Given the description of an element on the screen output the (x, y) to click on. 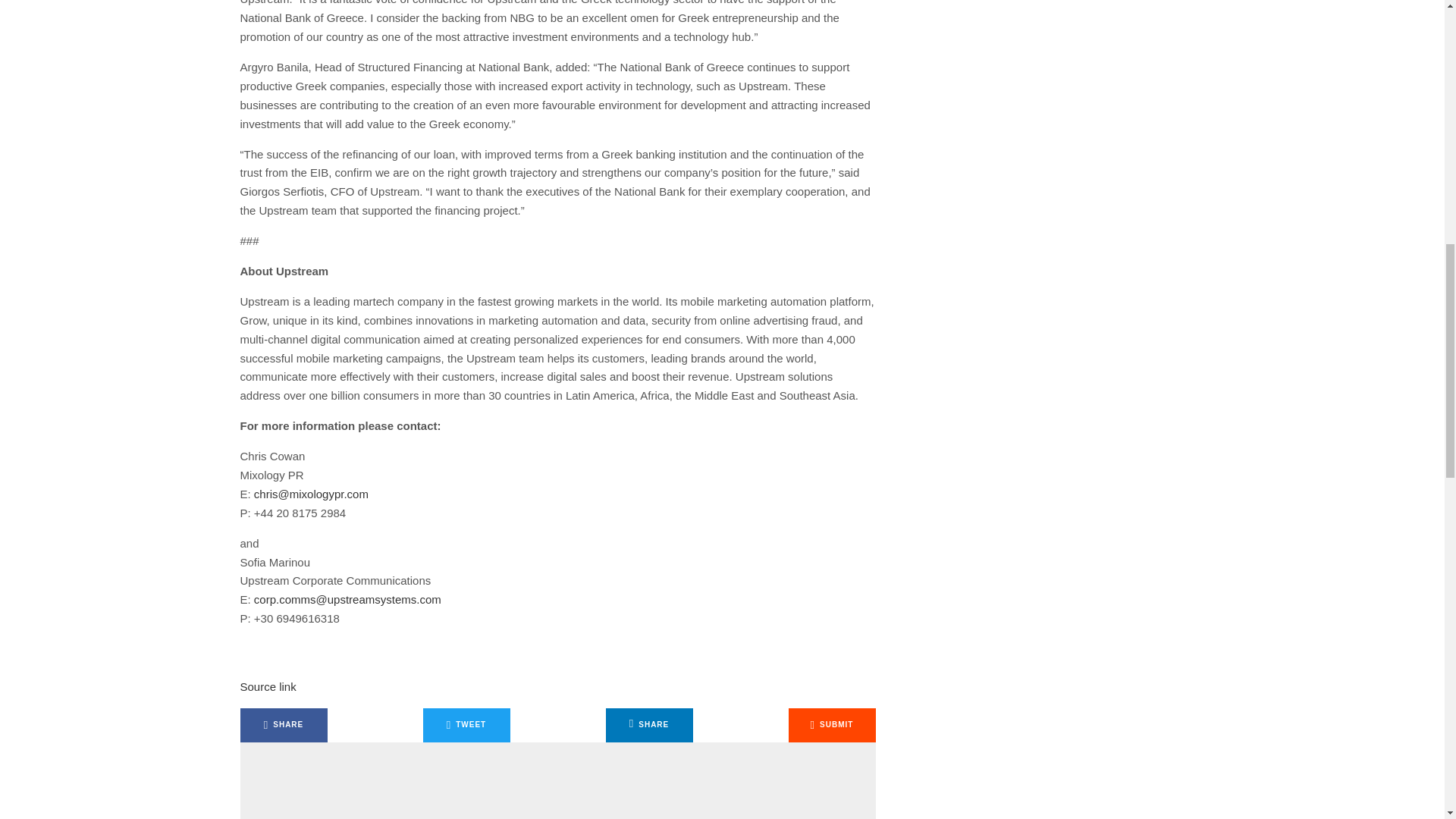
SHARE (649, 725)
TWEET (467, 725)
SHARE (283, 725)
Source link (267, 686)
SUBMIT (832, 725)
